Given the description of an element on the screen output the (x, y) to click on. 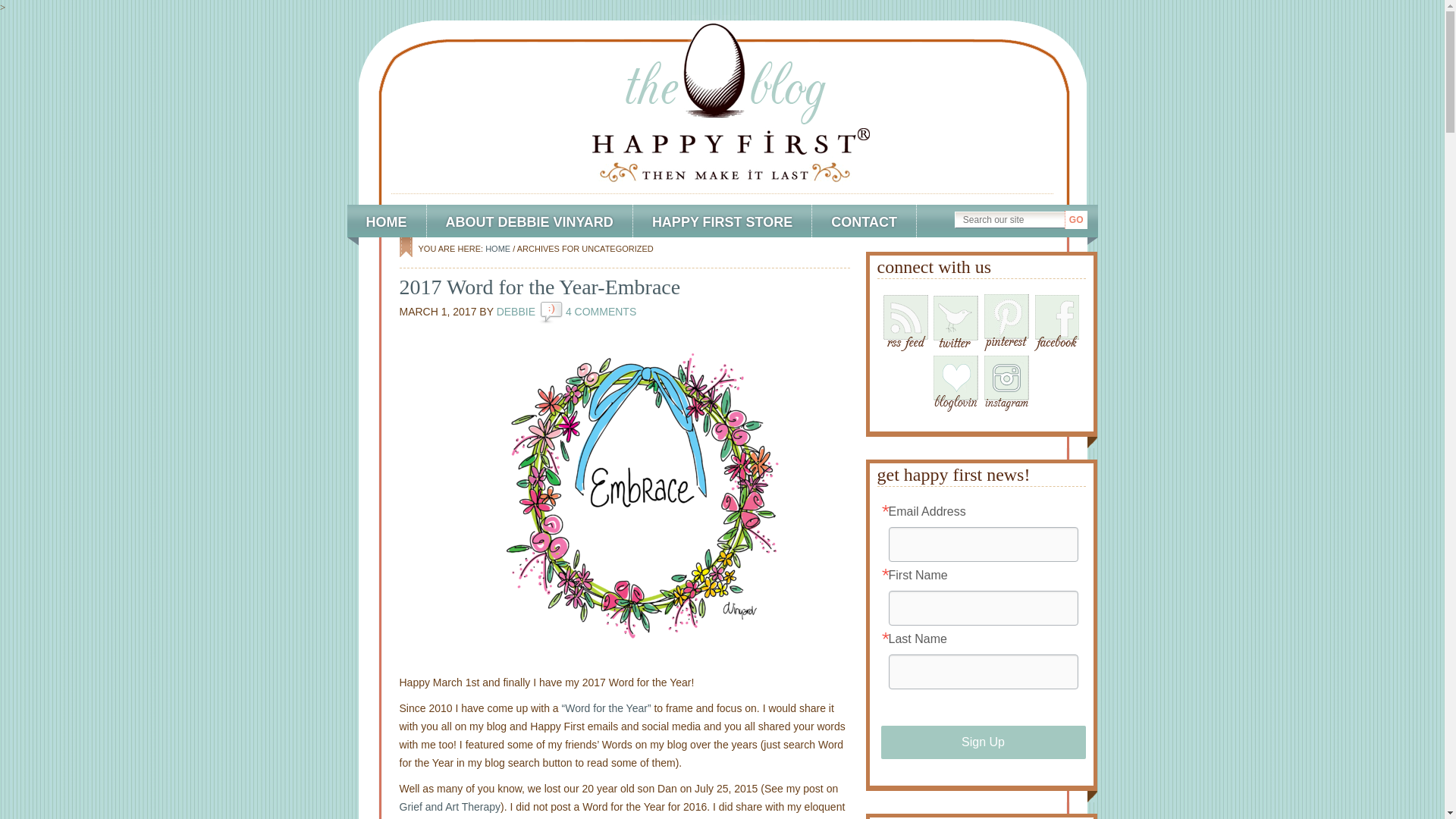
Grief and Art Therapy (449, 806)
HOME (386, 220)
ABOUT DEBBIE VINYARD (528, 220)
Go (1075, 219)
HOME (497, 248)
2017 Word for the Year-Embrace (538, 286)
4 COMMENTS (601, 311)
Go (1075, 219)
DEBBIE (515, 311)
